Given the description of an element on the screen output the (x, y) to click on. 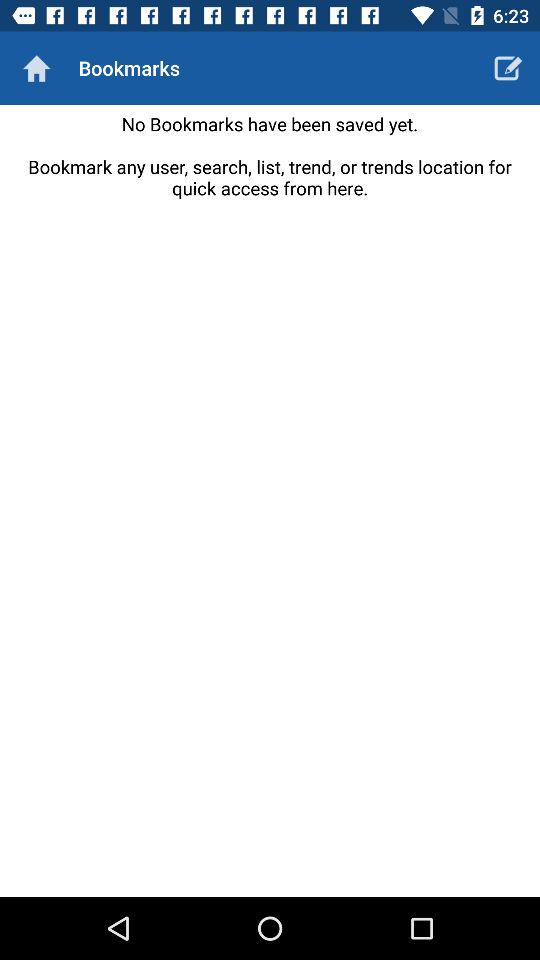
go home (36, 68)
